Given the description of an element on the screen output the (x, y) to click on. 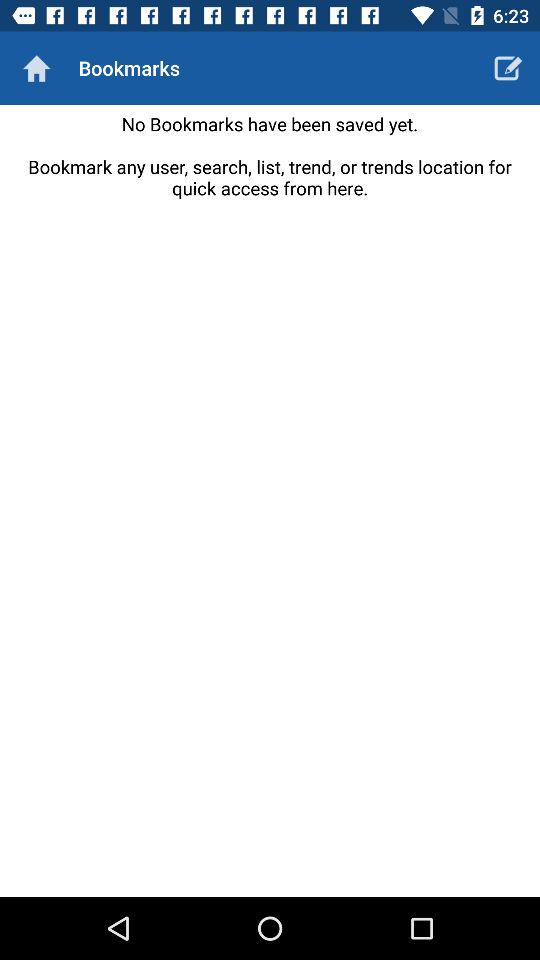
go home (36, 68)
